Given the description of an element on the screen output the (x, y) to click on. 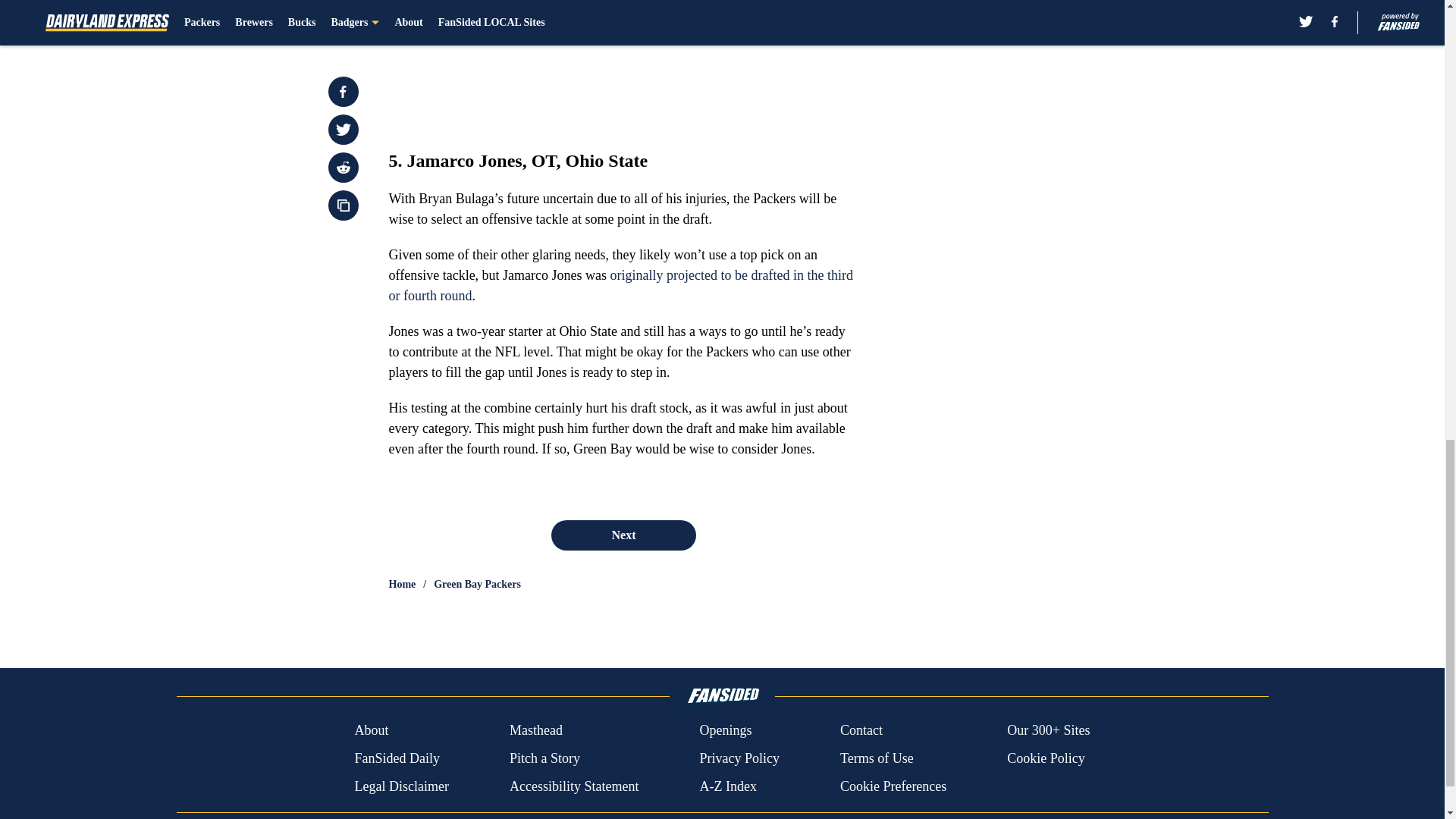
Home (401, 584)
Openings (724, 730)
Green Bay Packers (477, 584)
Accessibility Statement (574, 786)
Pitch a Story (544, 758)
FanSided Daily (396, 758)
A-Z Index (726, 786)
Contact (861, 730)
About (370, 730)
Next (622, 535)
Masthead (535, 730)
Privacy Policy (738, 758)
Cookie Policy (1045, 758)
Legal Disclaimer (400, 786)
